Given the description of an element on the screen output the (x, y) to click on. 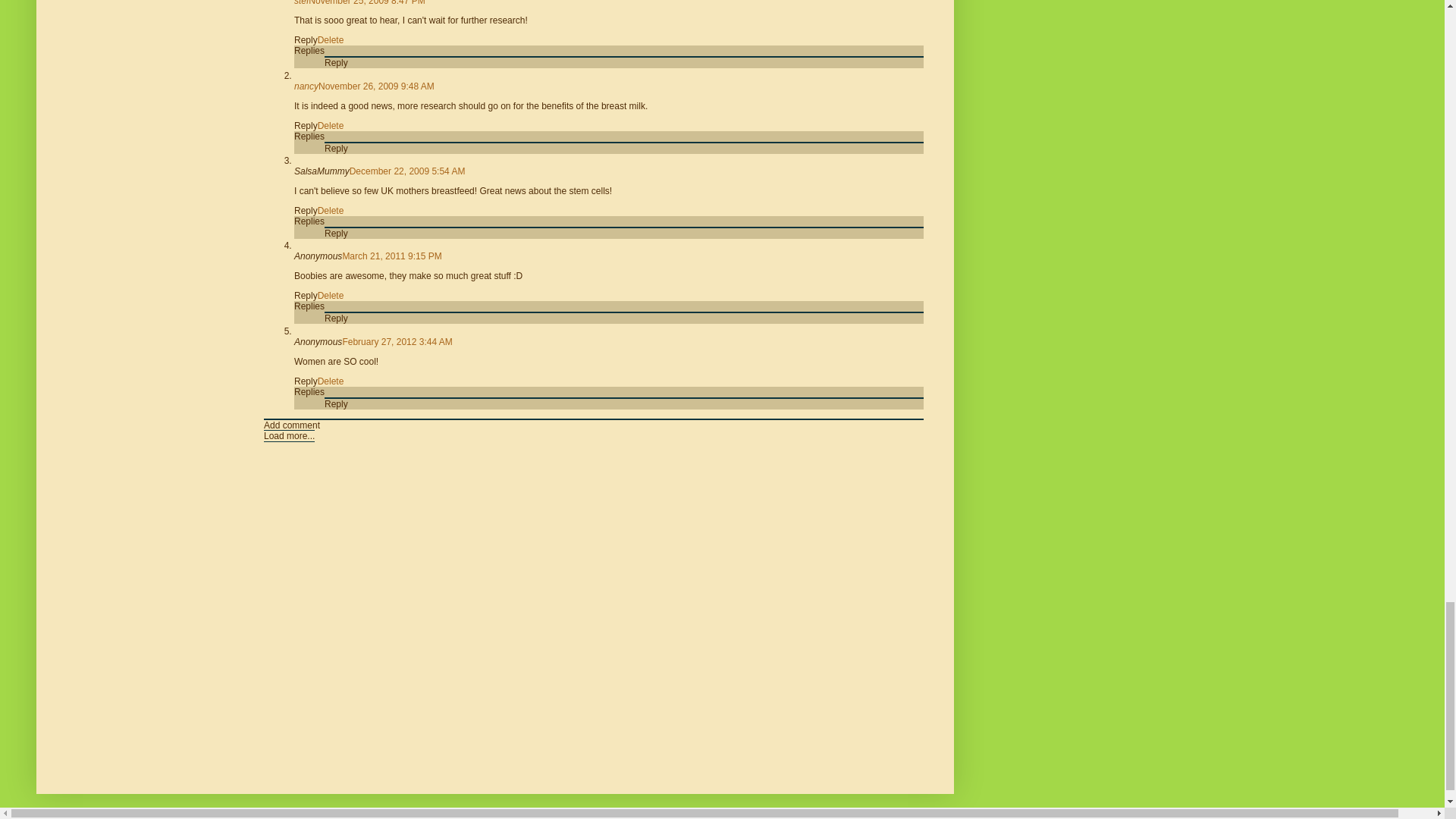
Replies (309, 50)
November 25, 2009 8:47 PM (366, 2)
stef (301, 2)
Reply (305, 40)
Delete (330, 40)
